Given the description of an element on the screen output the (x, y) to click on. 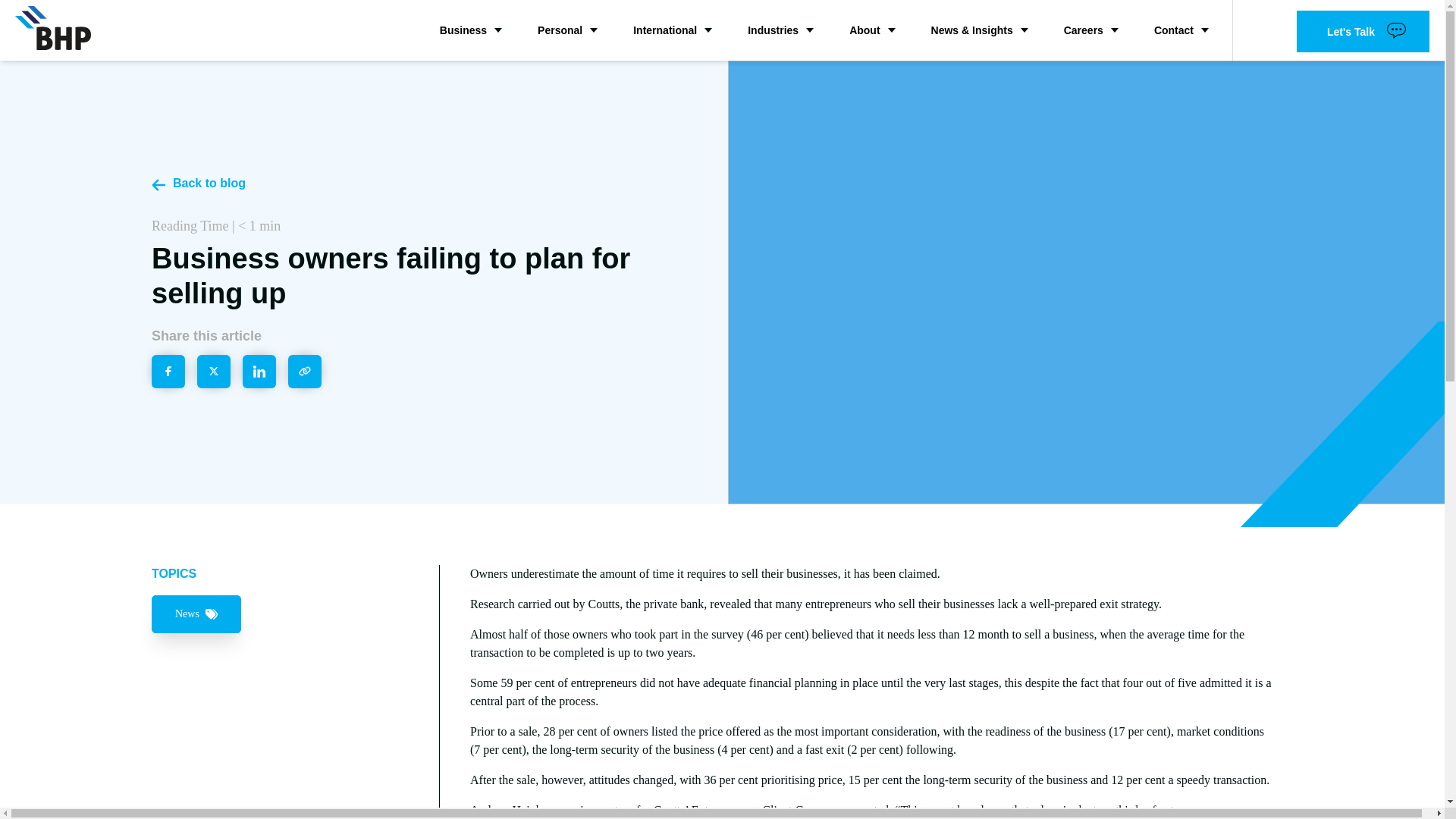
BHP, Chartered Accountants (52, 27)
Business (470, 30)
